Given the description of an element on the screen output the (x, y) to click on. 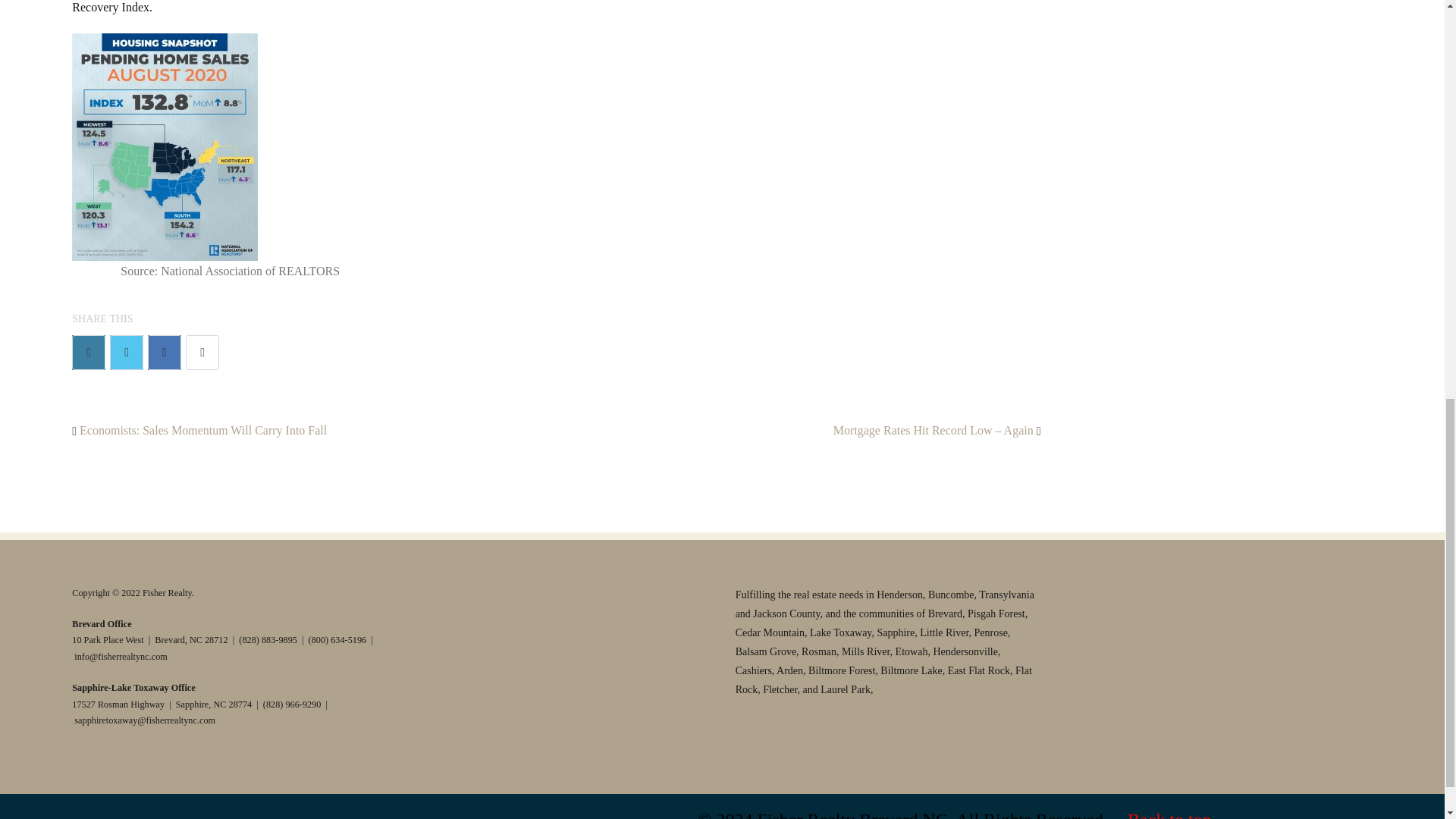
LuxuryHomes.com (535, 644)
